Given the description of an element on the screen output the (x, y) to click on. 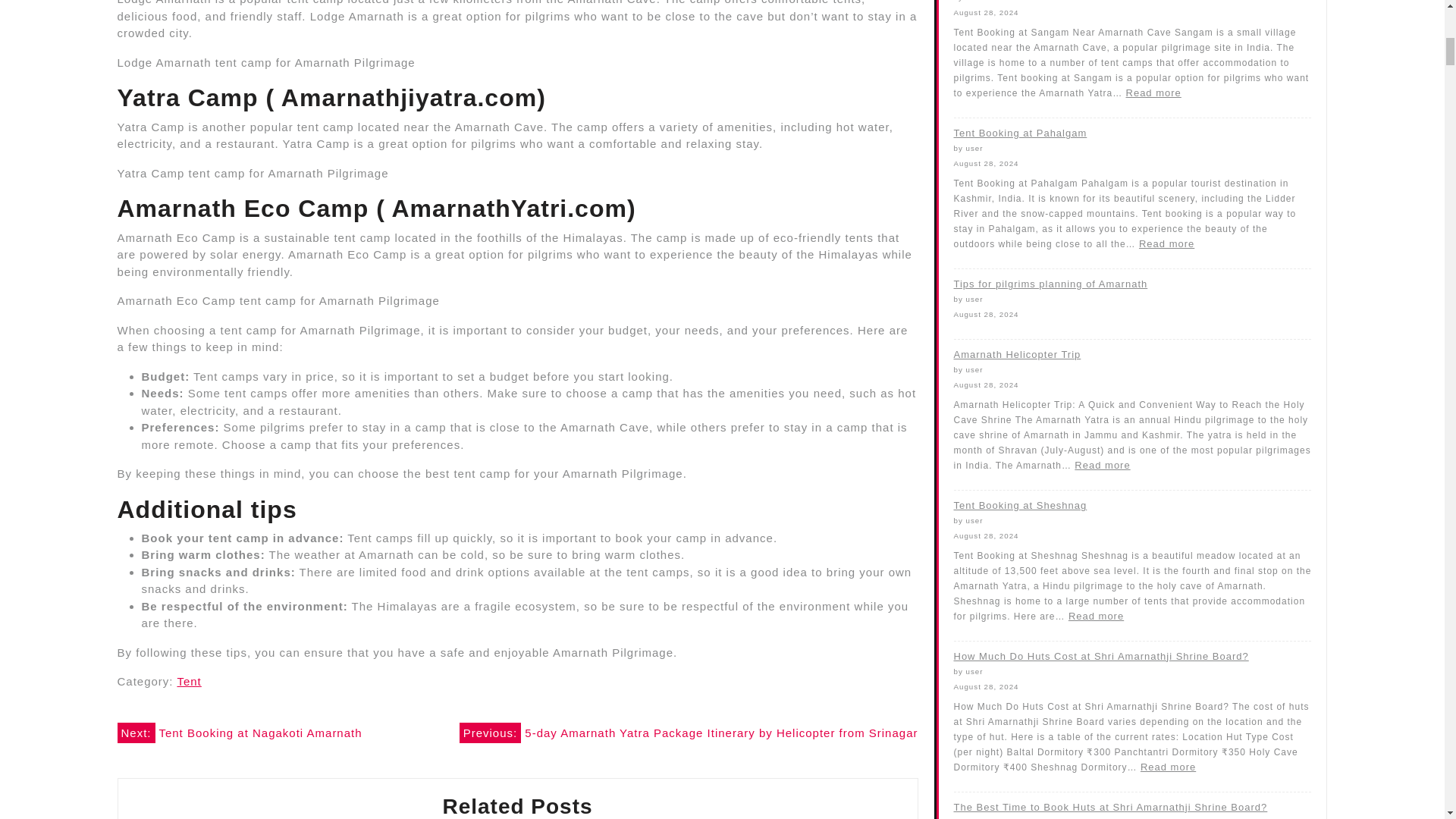
Tent (188, 680)
Next: Tent Booking at Nagakoti Amarnath (238, 732)
